Given the description of an element on the screen output the (x, y) to click on. 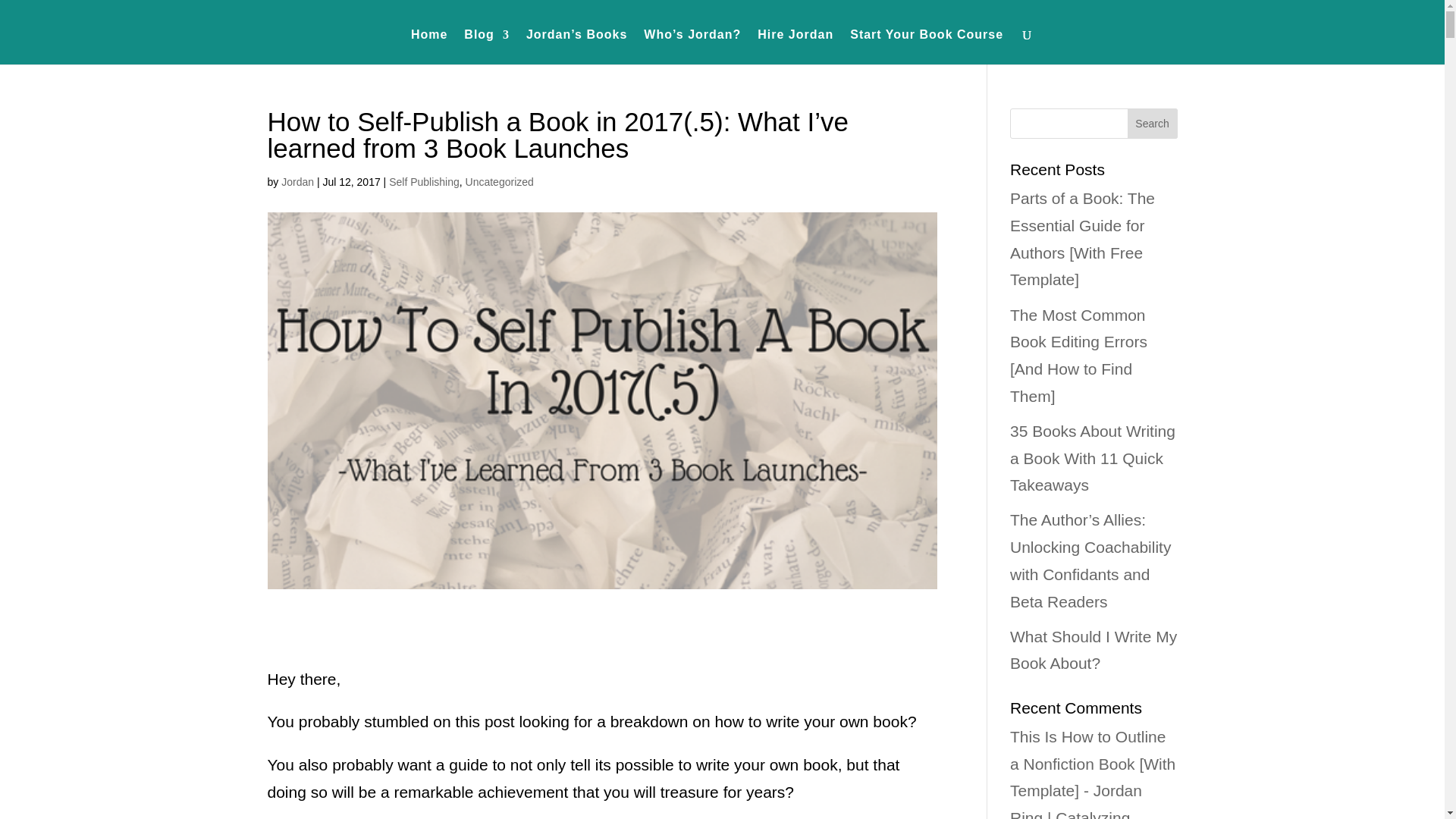
Self Publishing (424, 182)
Start Your Book Course (926, 46)
Jordan (297, 182)
Hire Jordan (794, 46)
Posts by Jordan (297, 182)
Uncategorized (499, 182)
Home (428, 46)
Search (1151, 123)
Blog (486, 46)
